Given the description of an element on the screen output the (x, y) to click on. 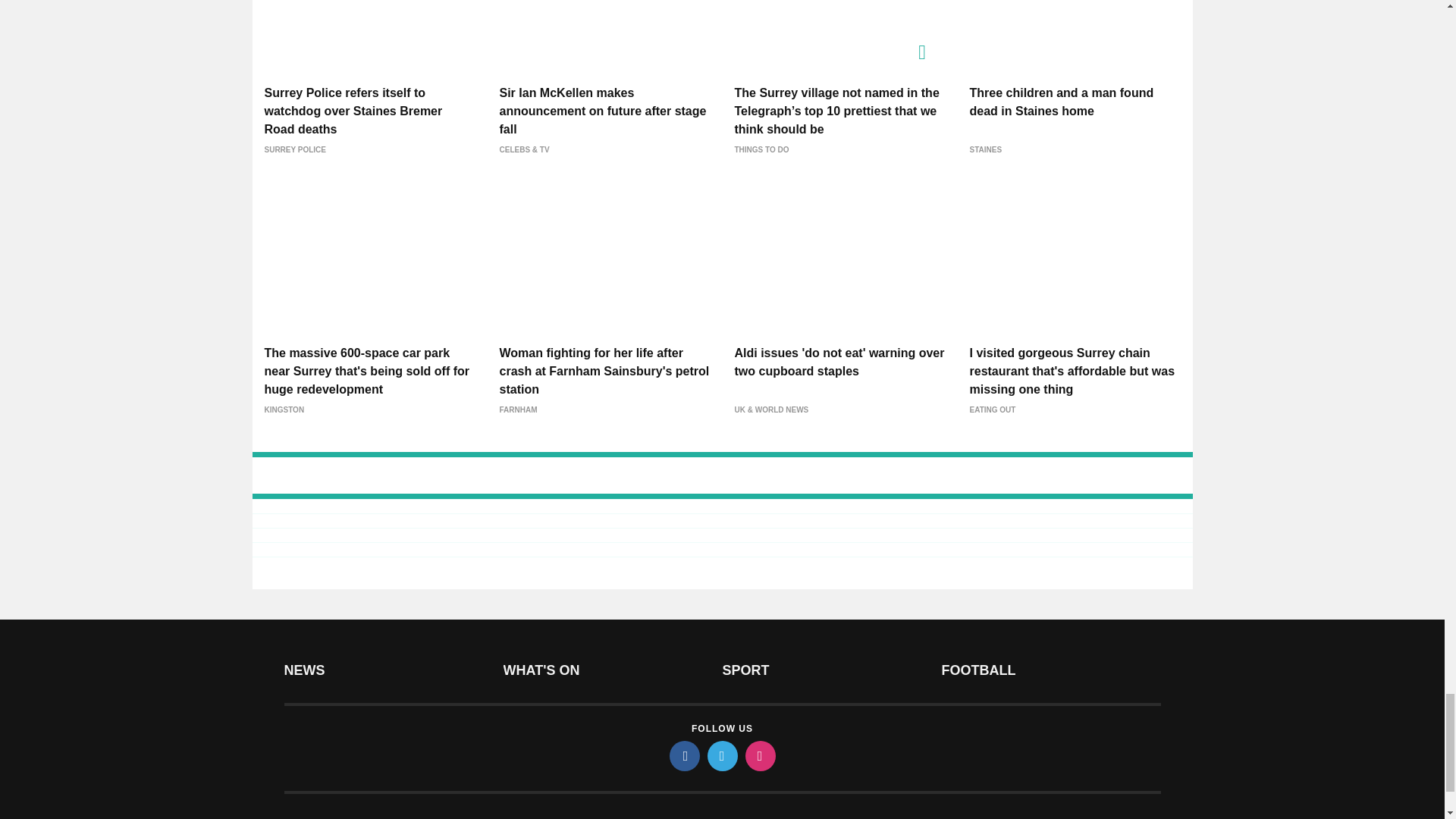
twitter (721, 756)
facebook (683, 756)
instagram (759, 756)
